Given the description of an element on the screen output the (x, y) to click on. 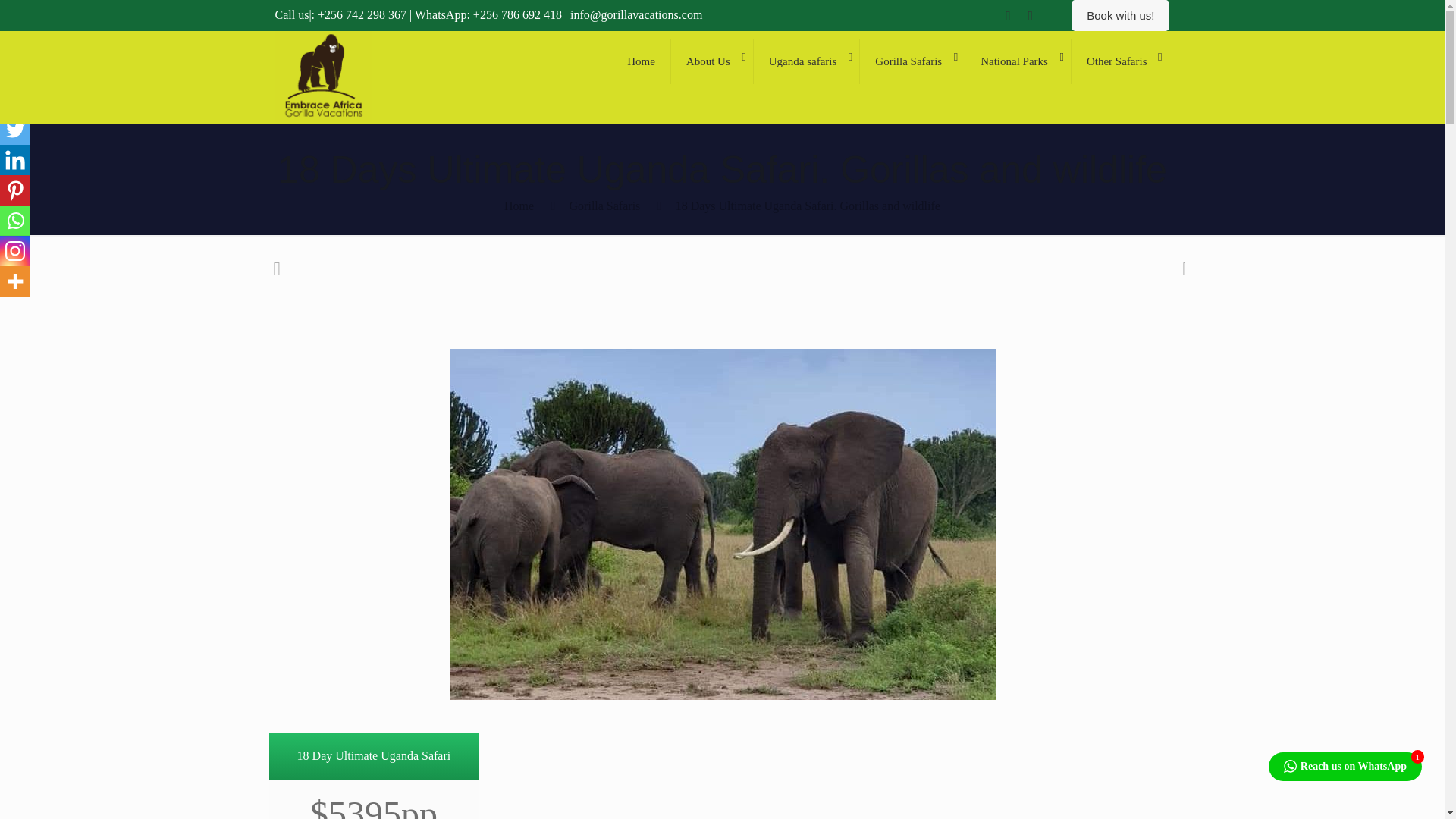
Embrace Africa Gorilla Vacation (323, 117)
About Us (712, 61)
Whatsapp (15, 220)
Gorilla Safaris (912, 61)
Uganda safaris (807, 61)
Linkedin (15, 159)
More (15, 281)
Pinterest (15, 190)
Twitter (15, 129)
Instagram (15, 250)
Book with us! (1120, 15)
Facebook (15, 99)
Home (641, 61)
